Given the description of an element on the screen output the (x, y) to click on. 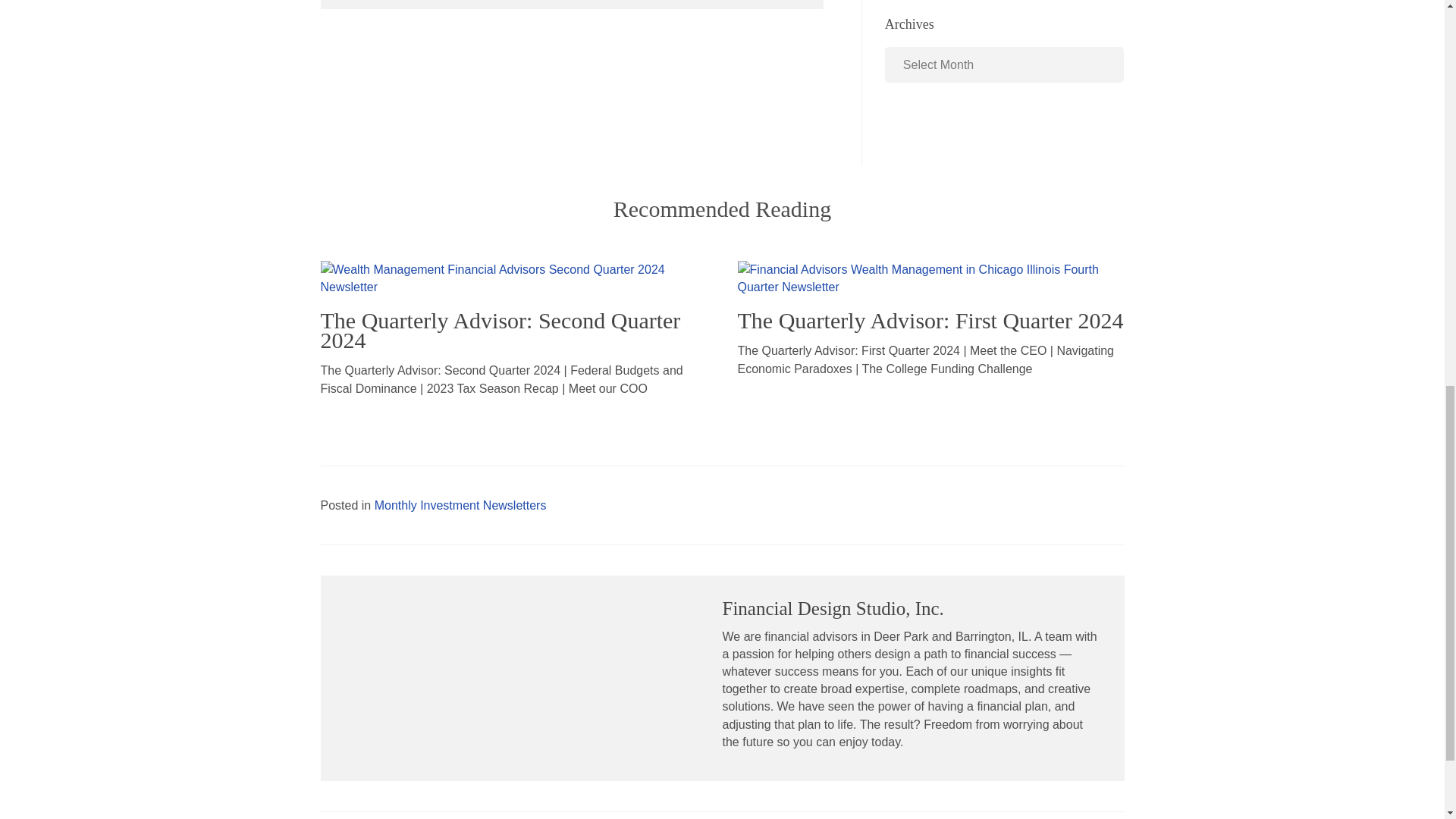
The Quarterly Advisor: First Quarter 2024 (929, 319)
The Quarterly Advisor: Second Quarter 2024 (513, 277)
The Quarterly Advisor: First Quarter 2024 (930, 277)
The Quarterly Advisor: Second Quarter 2024 (499, 329)
